Given the description of an element on the screen output the (x, y) to click on. 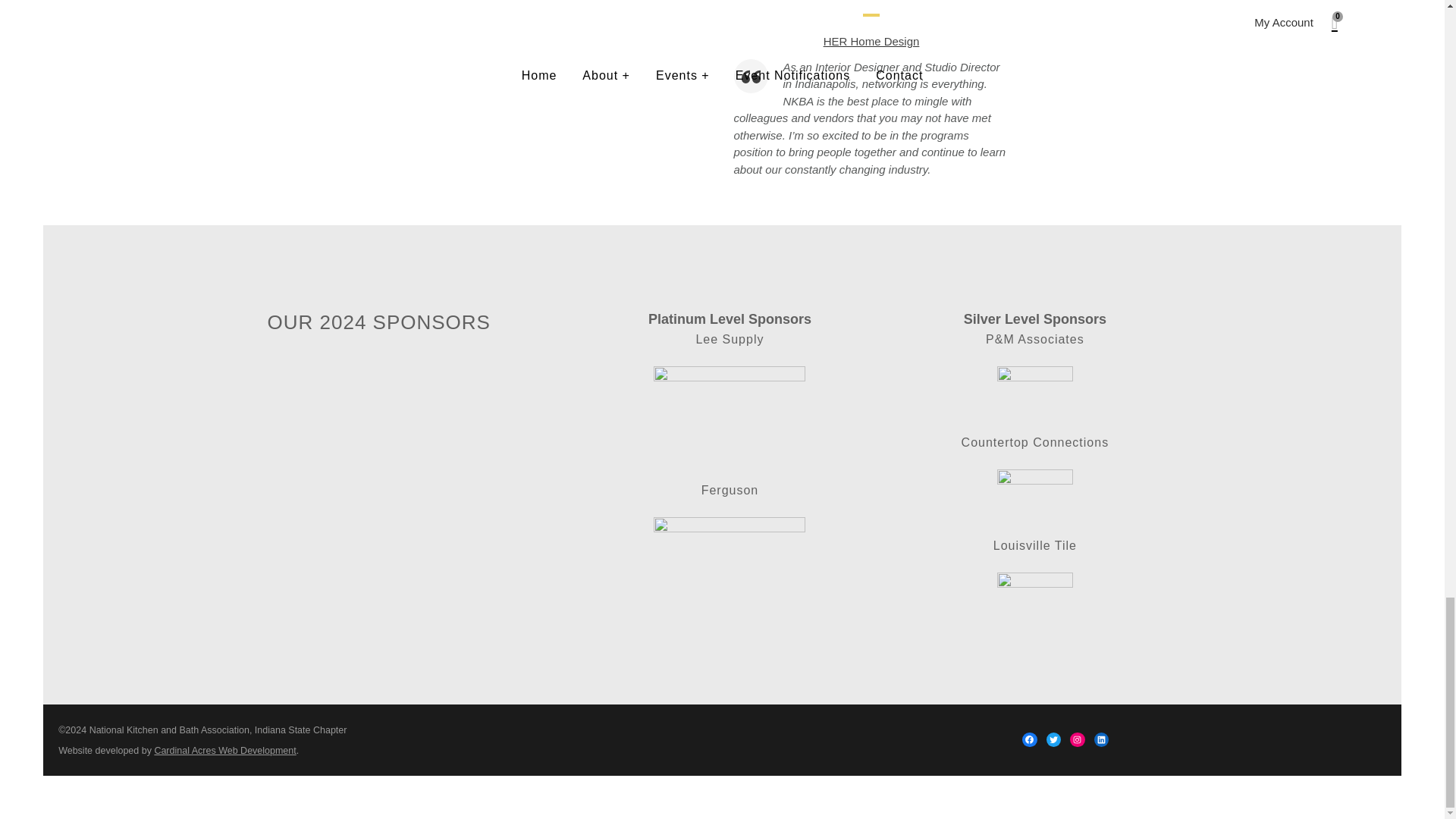
FACEBOOK (1029, 739)
Cardinal Acres Web Development (224, 750)
HER Home Design (872, 41)
